Given the description of an element on the screen output the (x, y) to click on. 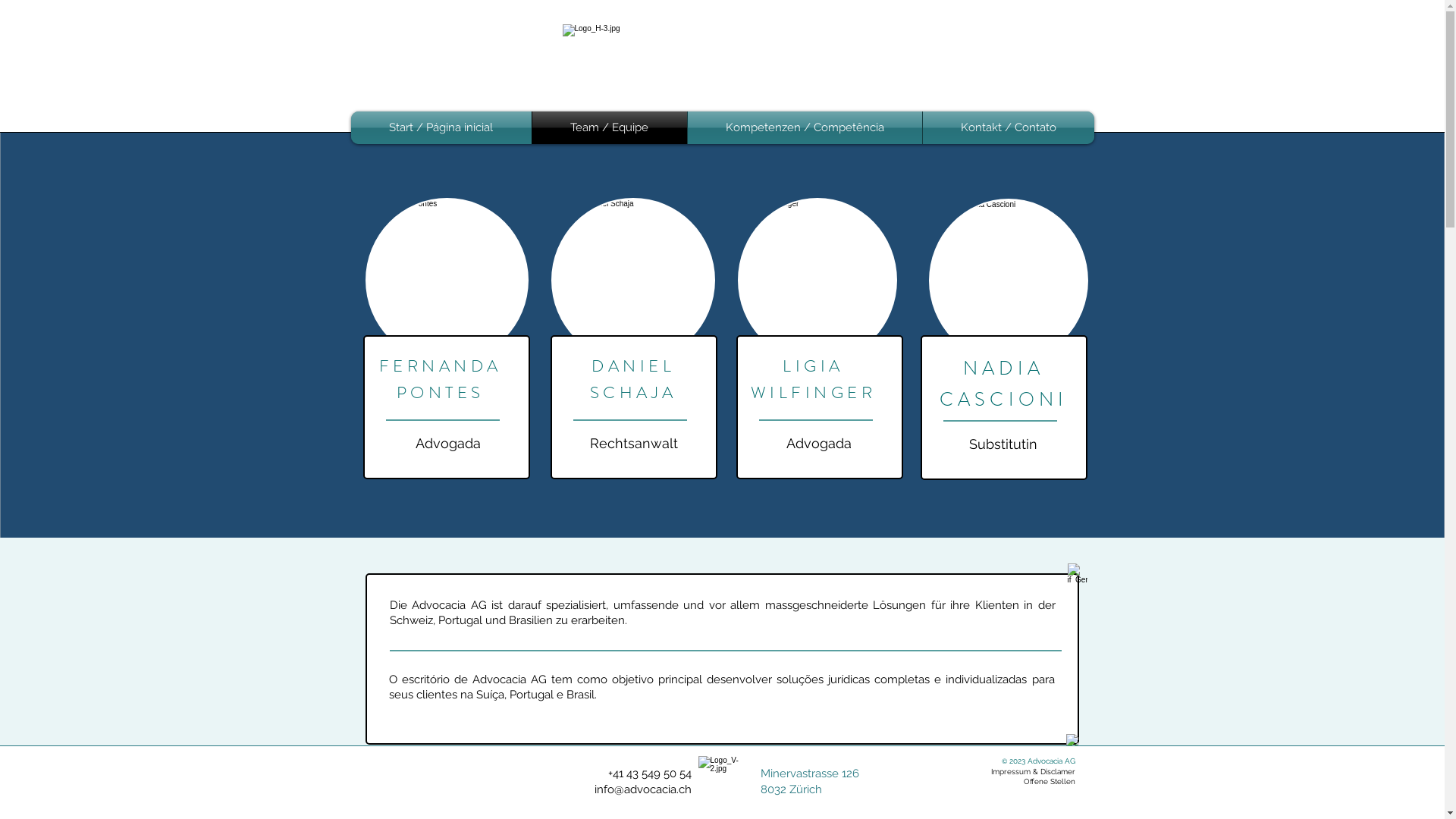
NADIA CASCIONI Element type: text (1002, 383)
LIGIA WILFINGER Element type: text (813, 378)
Adogada Fernanda Pontes Element type: hover (446, 279)
DANIEL SCHAJA Element type: text (633, 378)
MLaw Daniel Schaja Element type: hover (632, 279)
MLaw Nadia Cascioni Element type: hover (1007, 280)
Substitutin Element type: text (1003, 443)
Advogada Element type: text (817, 442)
Rechtsanwalt Element type: text (633, 442)
Team / Equipe Element type: text (609, 127)
Advogada Element type: text (447, 442)
Impressum & Disclamer Element type: text (1032, 771)
FERNANDA PONTES Element type: text (440, 378)
Advogada Ligia Wilfinger Element type: hover (816, 279)
Kontakt / Contato Element type: text (1007, 127)
info@advocacia.ch Element type: text (642, 788)
Offene Stellen Element type: text (1049, 781)
